Given the description of an element on the screen output the (x, y) to click on. 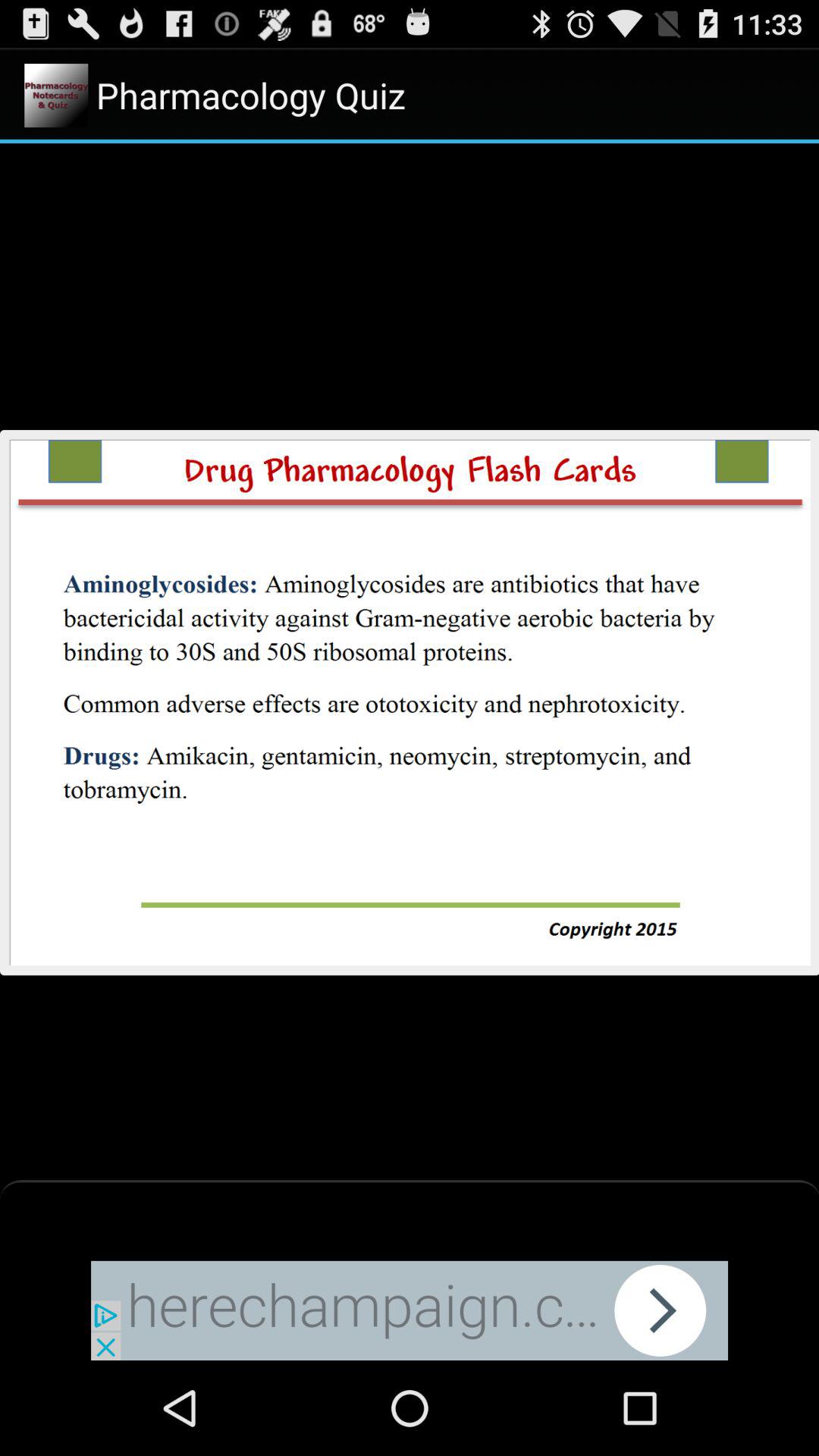
advertisement (409, 1310)
